Given the description of an element on the screen output the (x, y) to click on. 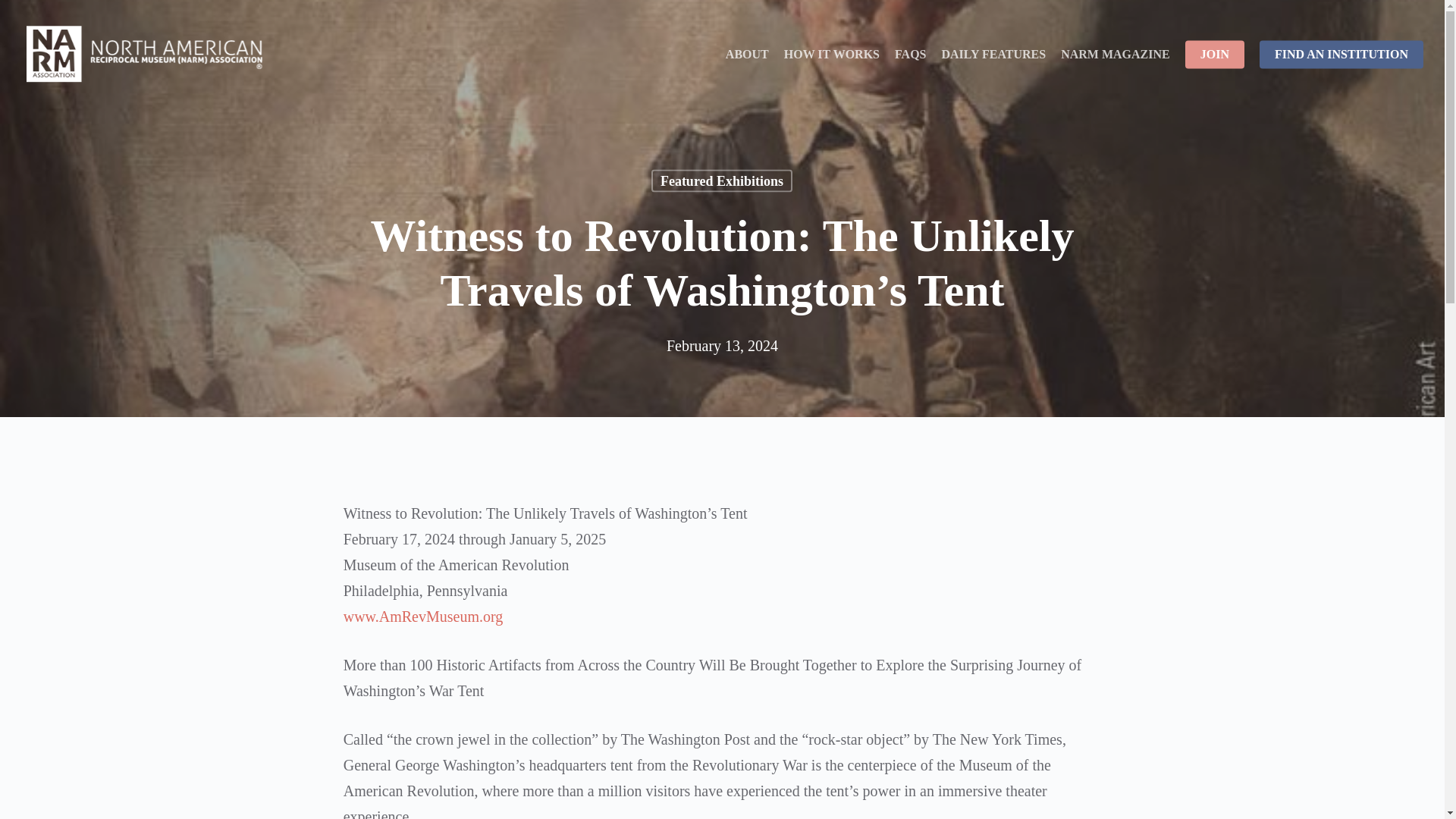
NARM MAGAZINE (1115, 54)
DAILY FEATURES (994, 54)
HOW IT WORKS (831, 54)
FAQS (910, 54)
JOIN (1214, 54)
www.AmRevMuseum.org (423, 616)
ABOUT (746, 54)
FIND AN INSTITUTION (1341, 54)
Featured Exhibitions (721, 180)
